Given the description of an element on the screen output the (x, y) to click on. 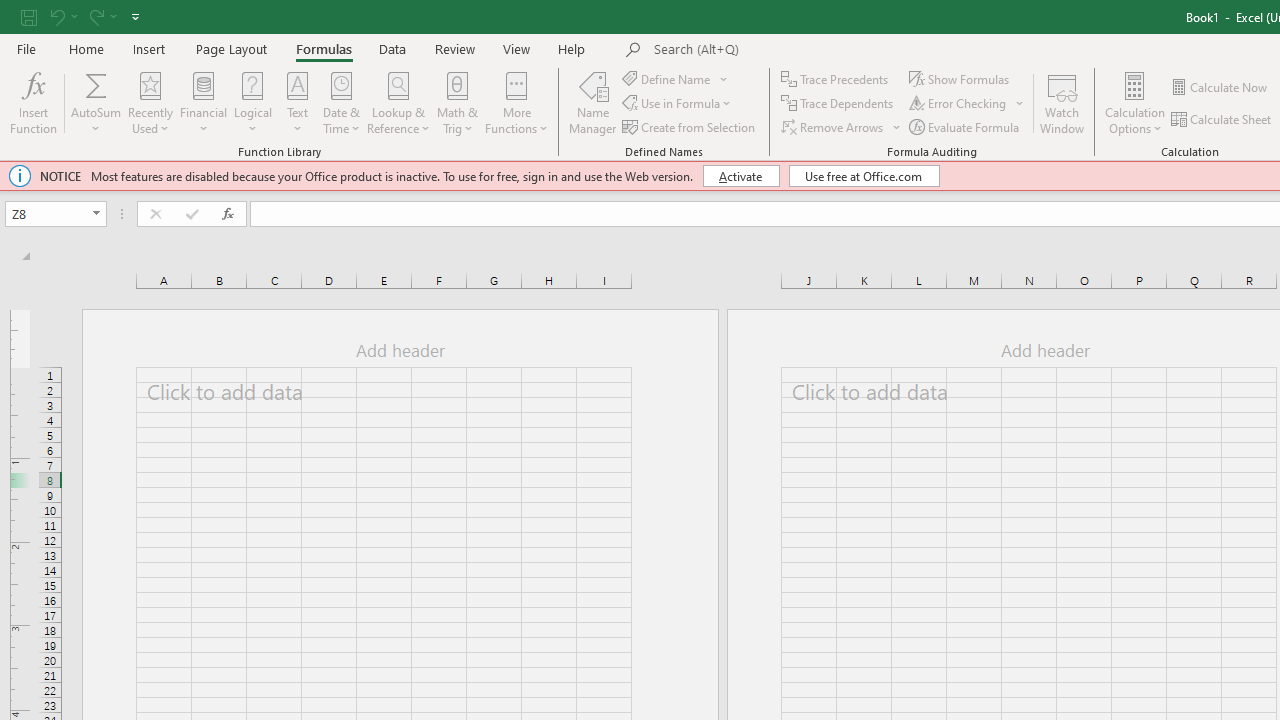
Name Manager (593, 102)
Math & Trig (458, 102)
Calculation Options (1135, 102)
AutoSum (96, 102)
Define Name (676, 78)
Show Formulas (961, 78)
Trace Precedents (836, 78)
Error Checking... (967, 103)
Financial (203, 102)
